Given the description of an element on the screen output the (x, y) to click on. 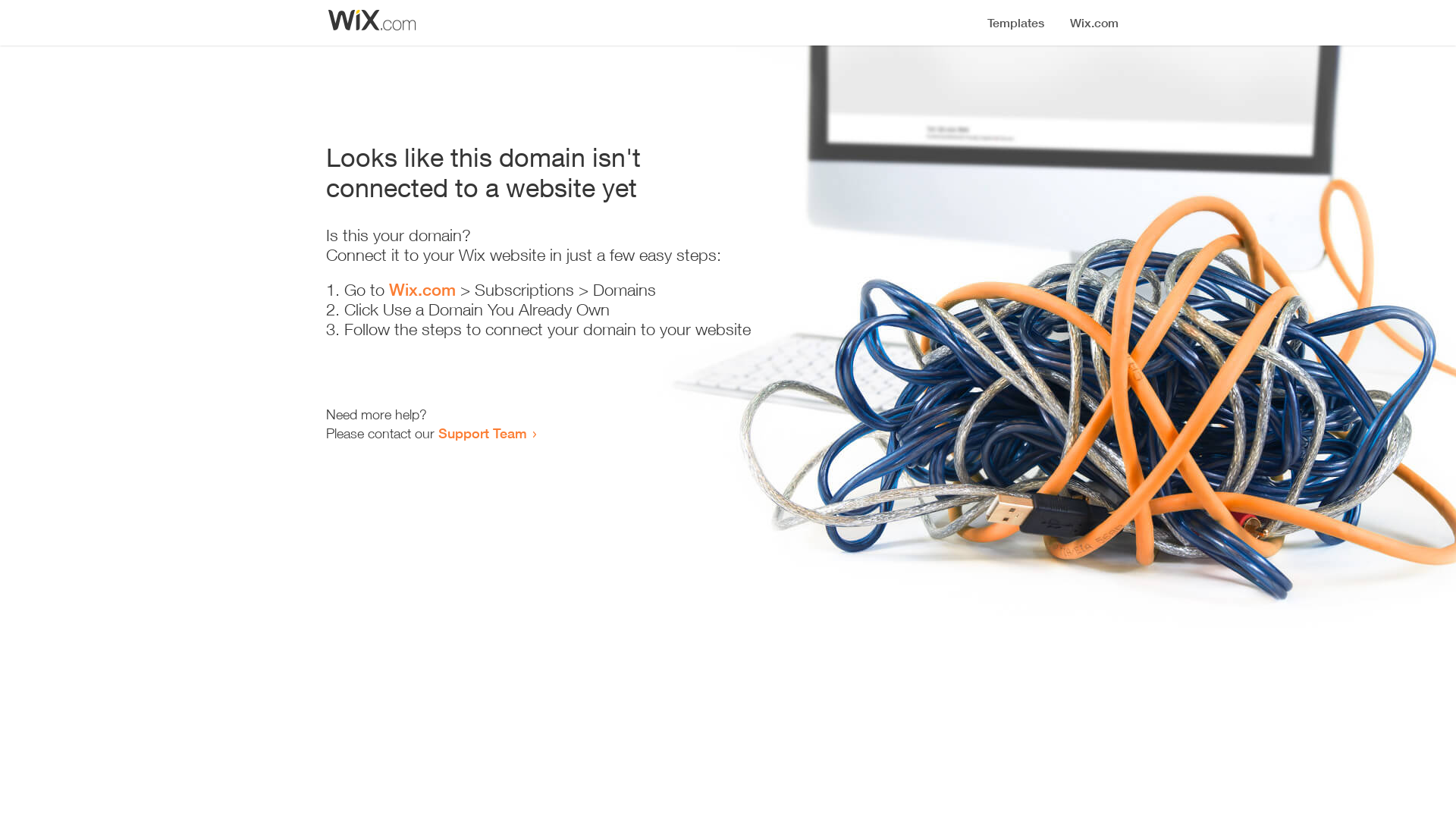
Support Team Element type: text (482, 432)
Wix.com Element type: text (422, 289)
